Given the description of an element on the screen output the (x, y) to click on. 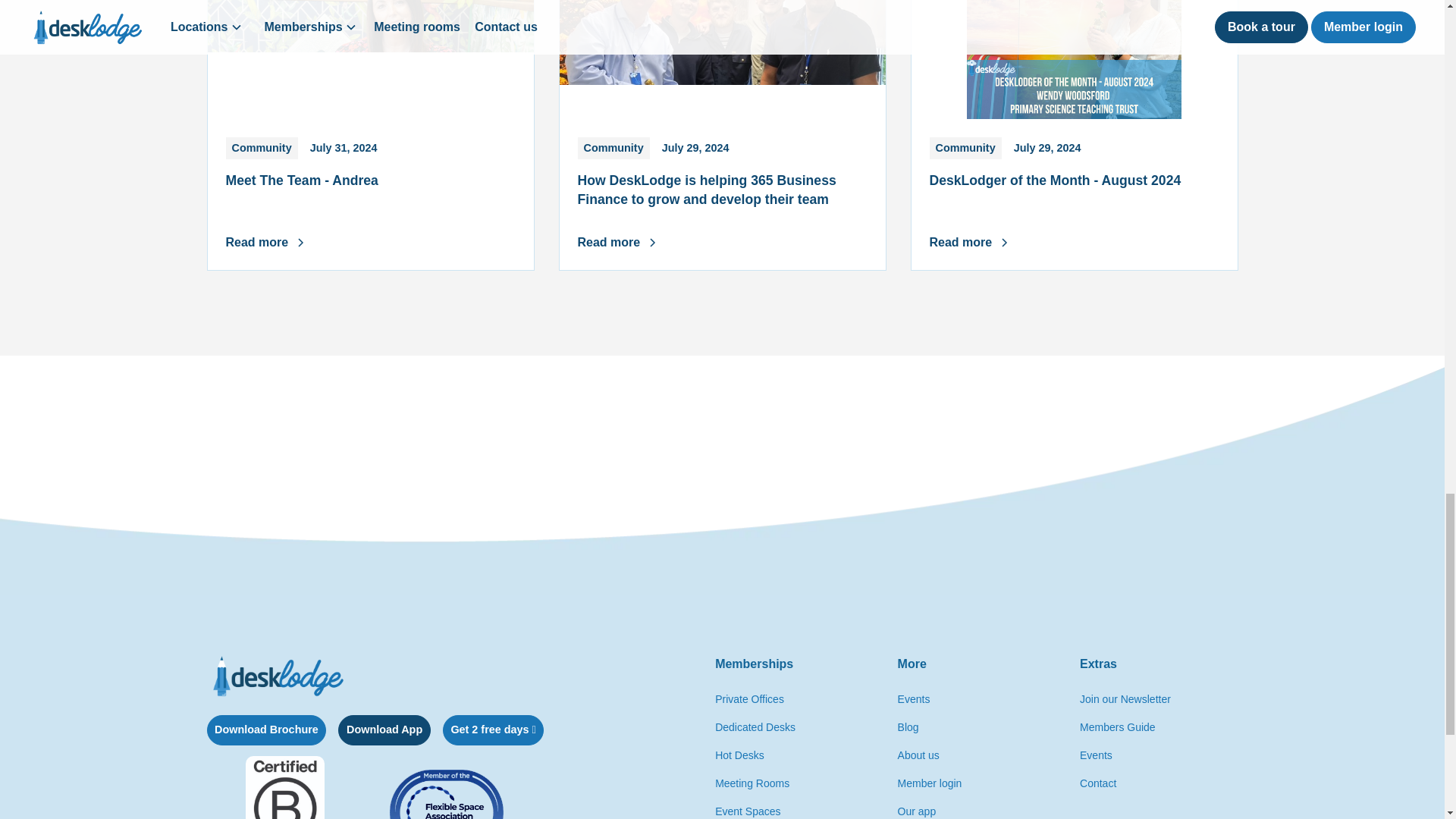
Dedicated Desks (754, 727)
Member login (371, 135)
Download App (930, 783)
Meeting Rooms (383, 729)
Our app (751, 783)
Hot Desks (917, 808)
About us (739, 755)
Private Offices (918, 755)
